Given the description of an element on the screen output the (x, y) to click on. 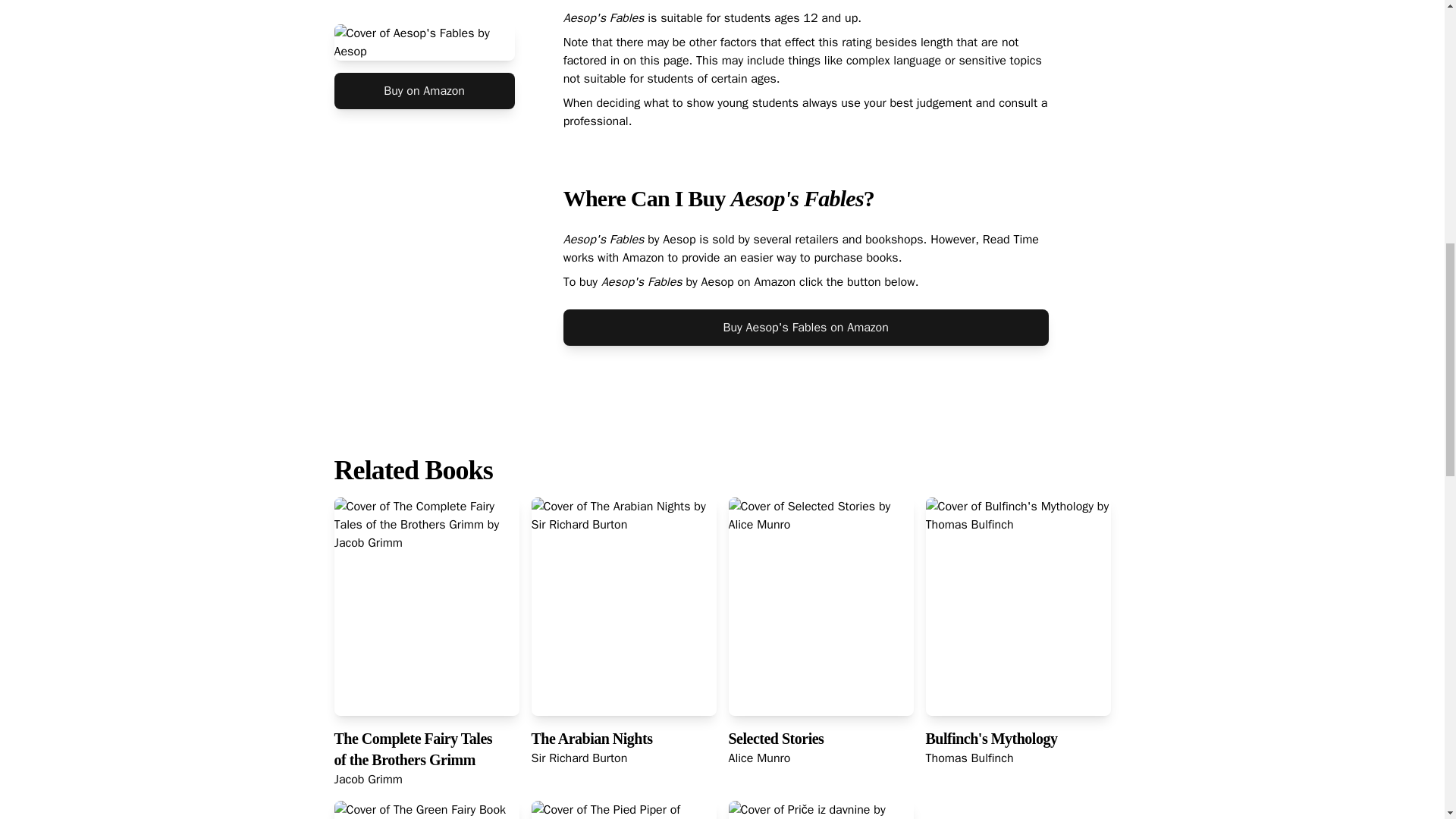
Alice Munro (759, 758)
Bulfinch's Mythology (990, 738)
Jacob Grimm (367, 779)
Selected Stories (776, 738)
The Arabian Nights (591, 738)
Thomas Bulfinch (968, 758)
Sir Richard Burton (579, 758)
The Complete Fairy Tales of the Brothers Grimm (412, 749)
Buy Aesop's Fables on Amazon (805, 327)
